Given the description of an element on the screen output the (x, y) to click on. 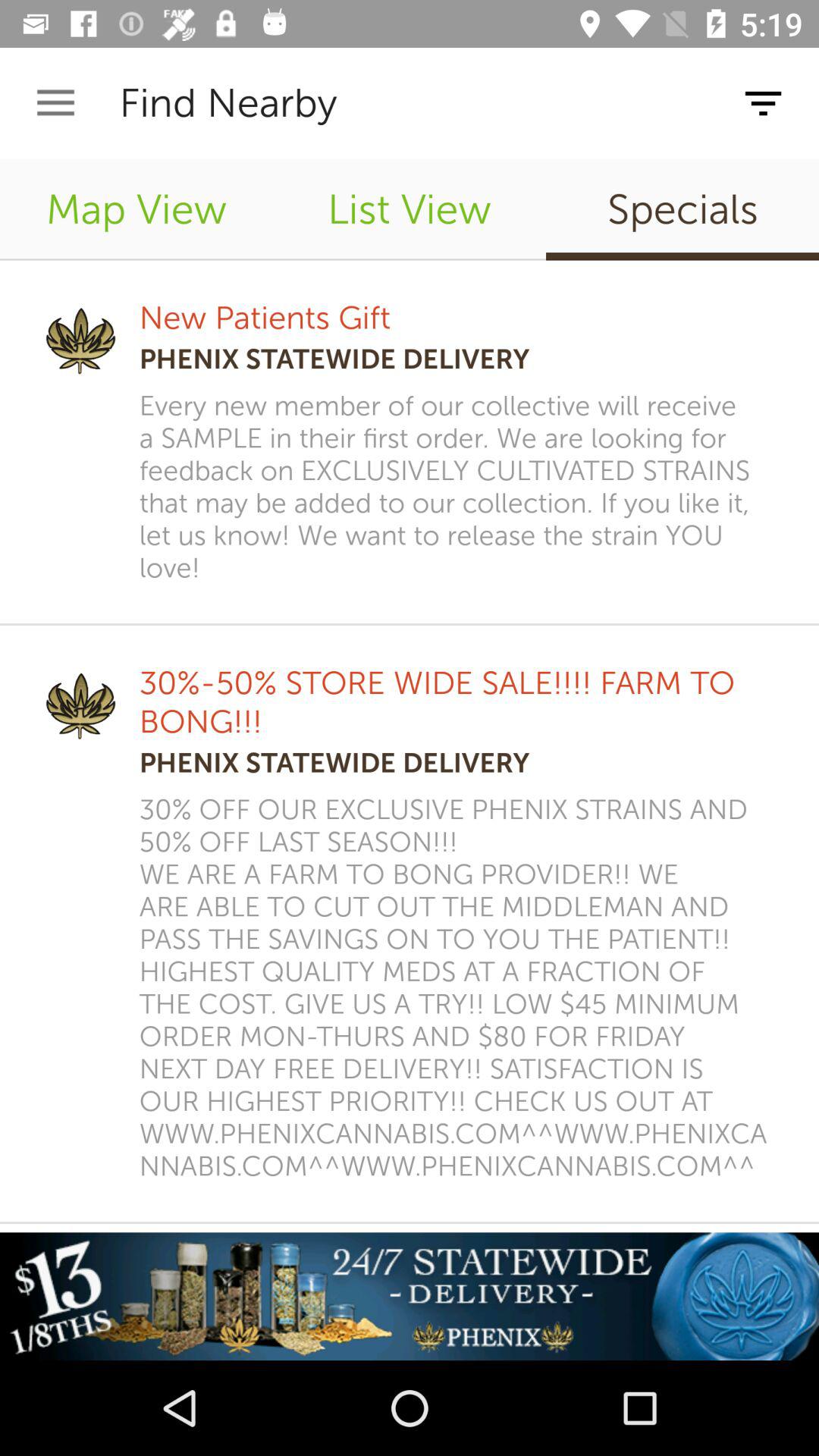
open icon above the map view icon (55, 103)
